Given the description of an element on the screen output the (x, y) to click on. 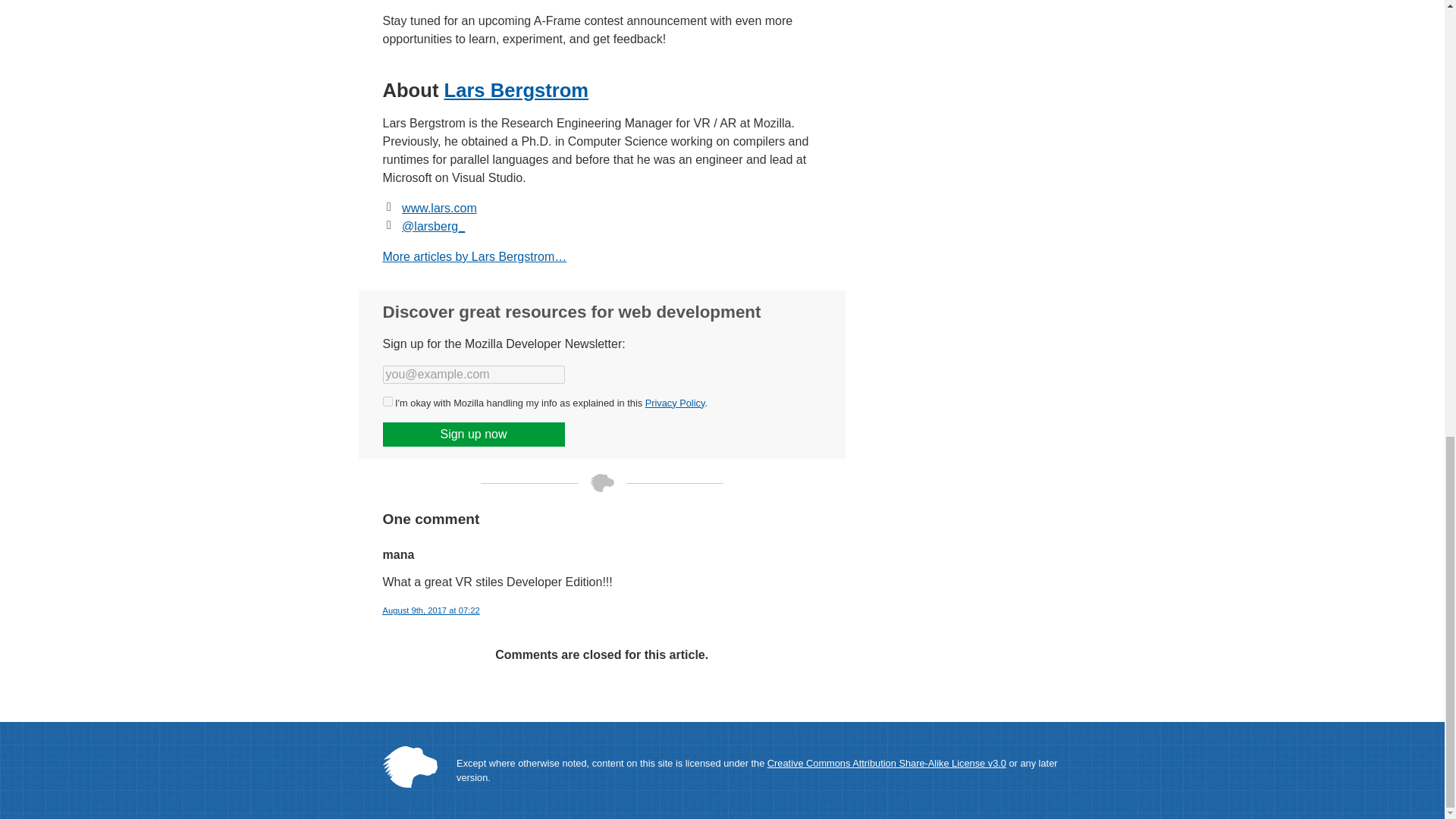
Permanent link to this comment by mana (430, 610)
on (386, 401)
August 9th, 2017 at 07:22 (430, 610)
Lars Bergstrom (516, 89)
2017-08-09 (413, 610)
www.lars.com (439, 207)
Creative Commons Attribution Share-Alike License v3.0 (886, 763)
Sign up now (472, 434)
Privacy Policy (674, 402)
